Given the description of an element on the screen output the (x, y) to click on. 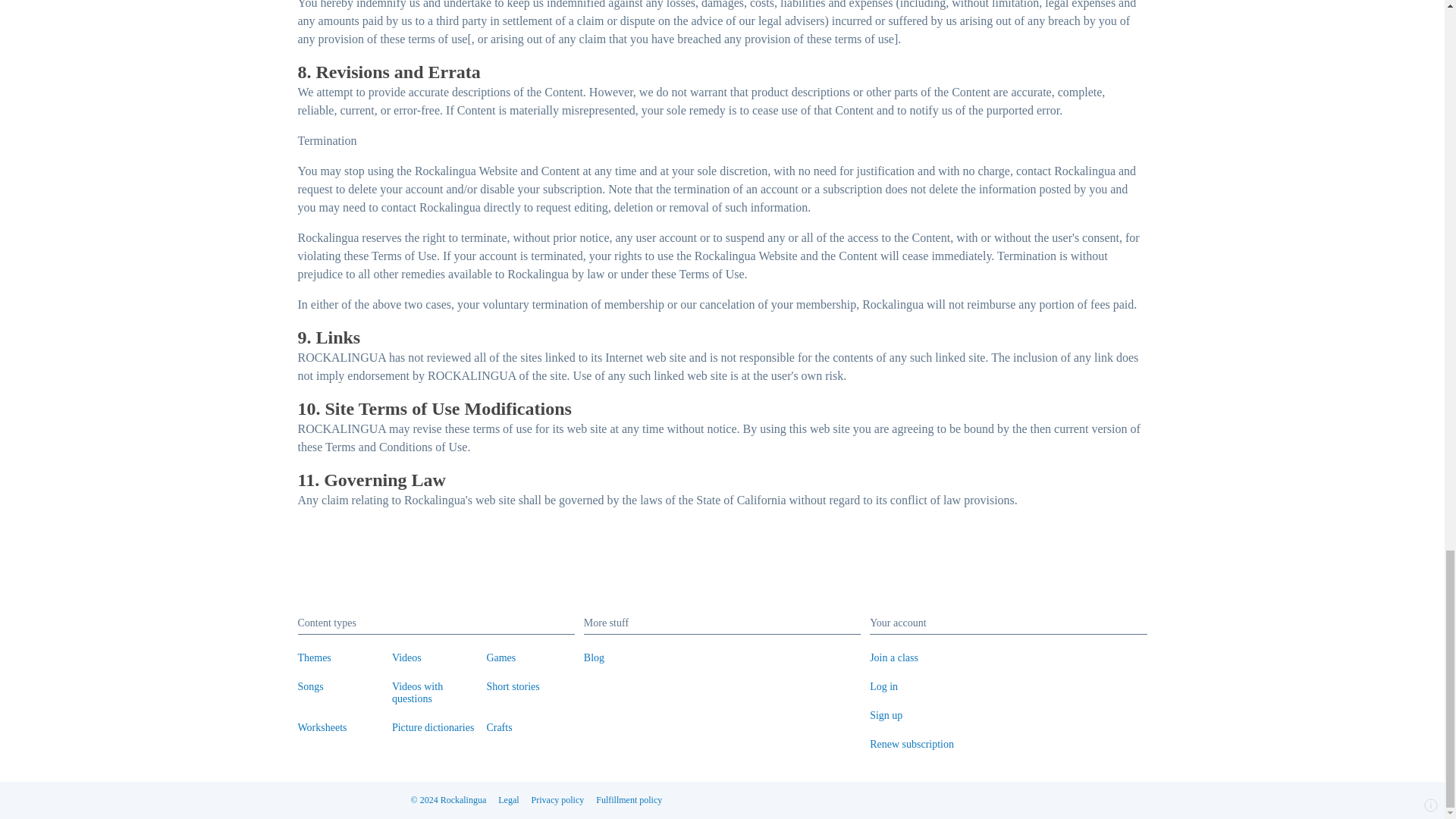
Renew subscription (911, 744)
Songs (310, 686)
Privacy policy (558, 800)
Games (500, 657)
Videos (406, 657)
Picture dictionaries (432, 727)
Log in (883, 686)
Legal (507, 800)
Themes (313, 657)
Sign up (885, 715)
